Given the description of an element on the screen output the (x, y) to click on. 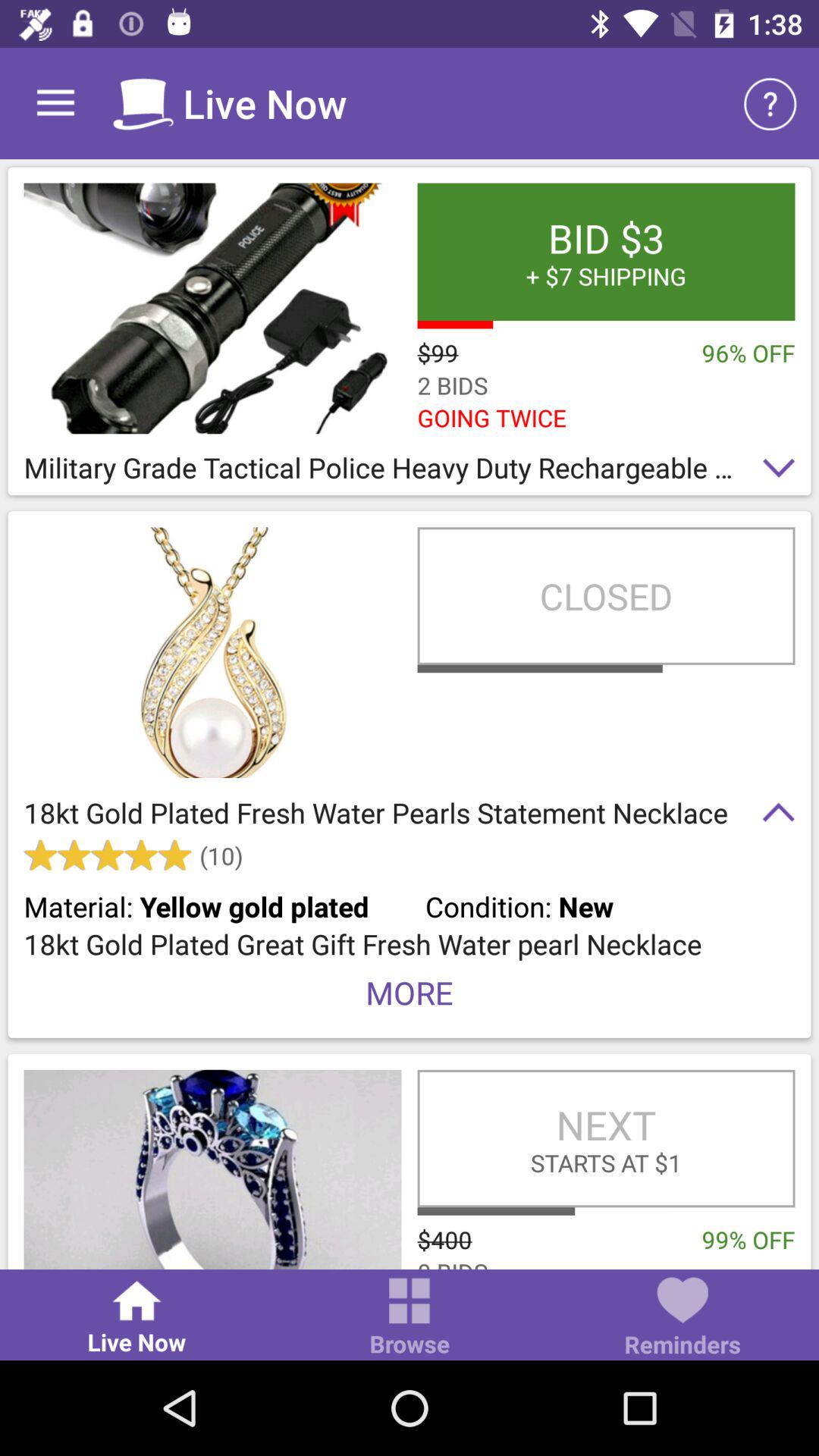
launch icon to the right of live now item (409, 1318)
